Given the description of an element on the screen output the (x, y) to click on. 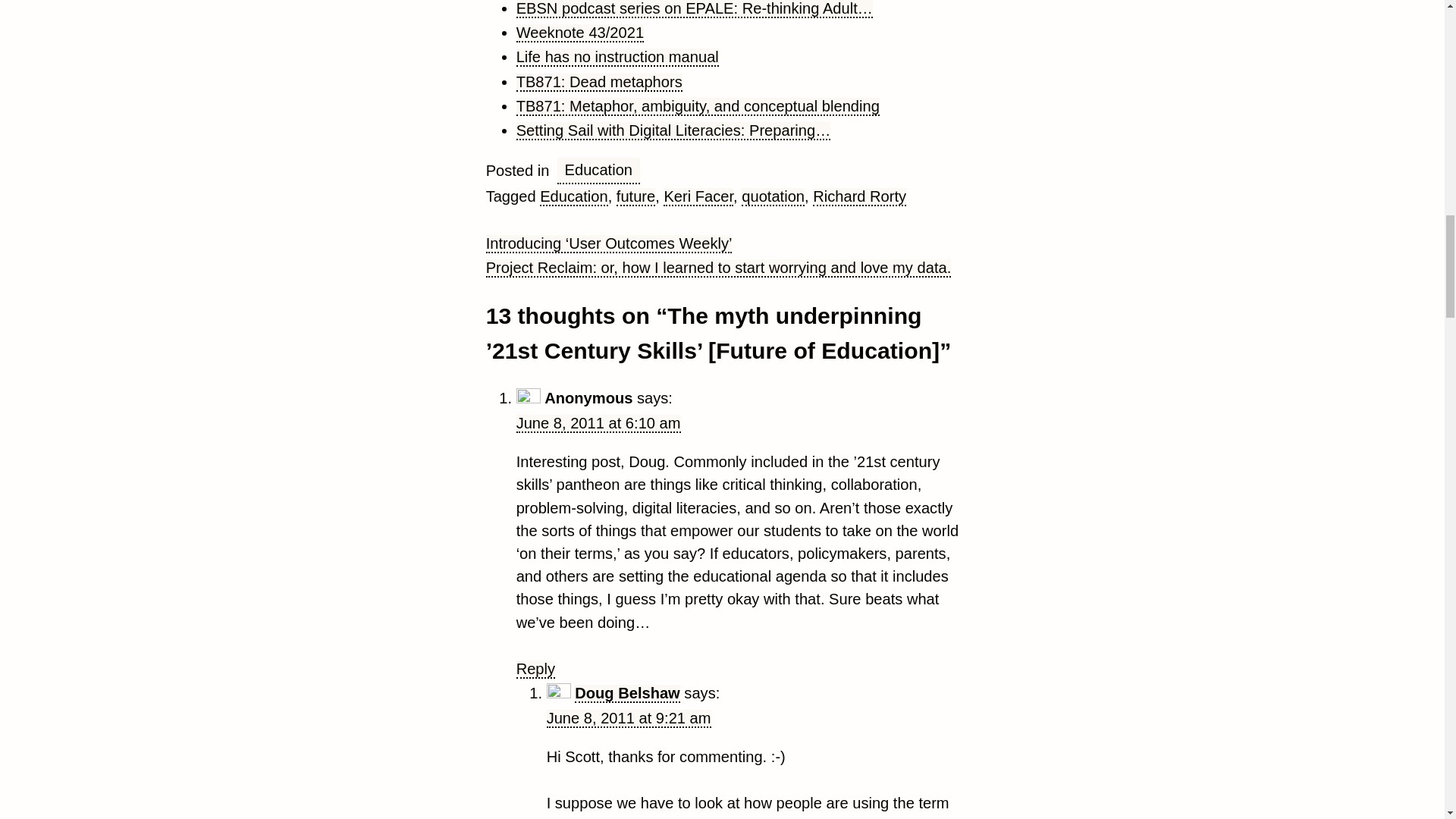
Life has no instruction manual (617, 57)
TB871: Metaphor, ambiguity, and conceptual blending (697, 106)
Doug Belshaw (627, 693)
Keri Facer (698, 197)
TB871: Dead metaphors (599, 82)
future (635, 197)
Richard Rorty (858, 197)
quotation (773, 197)
June 8, 2011 at 9:21 am (629, 719)
